Given the description of an element on the screen output the (x, y) to click on. 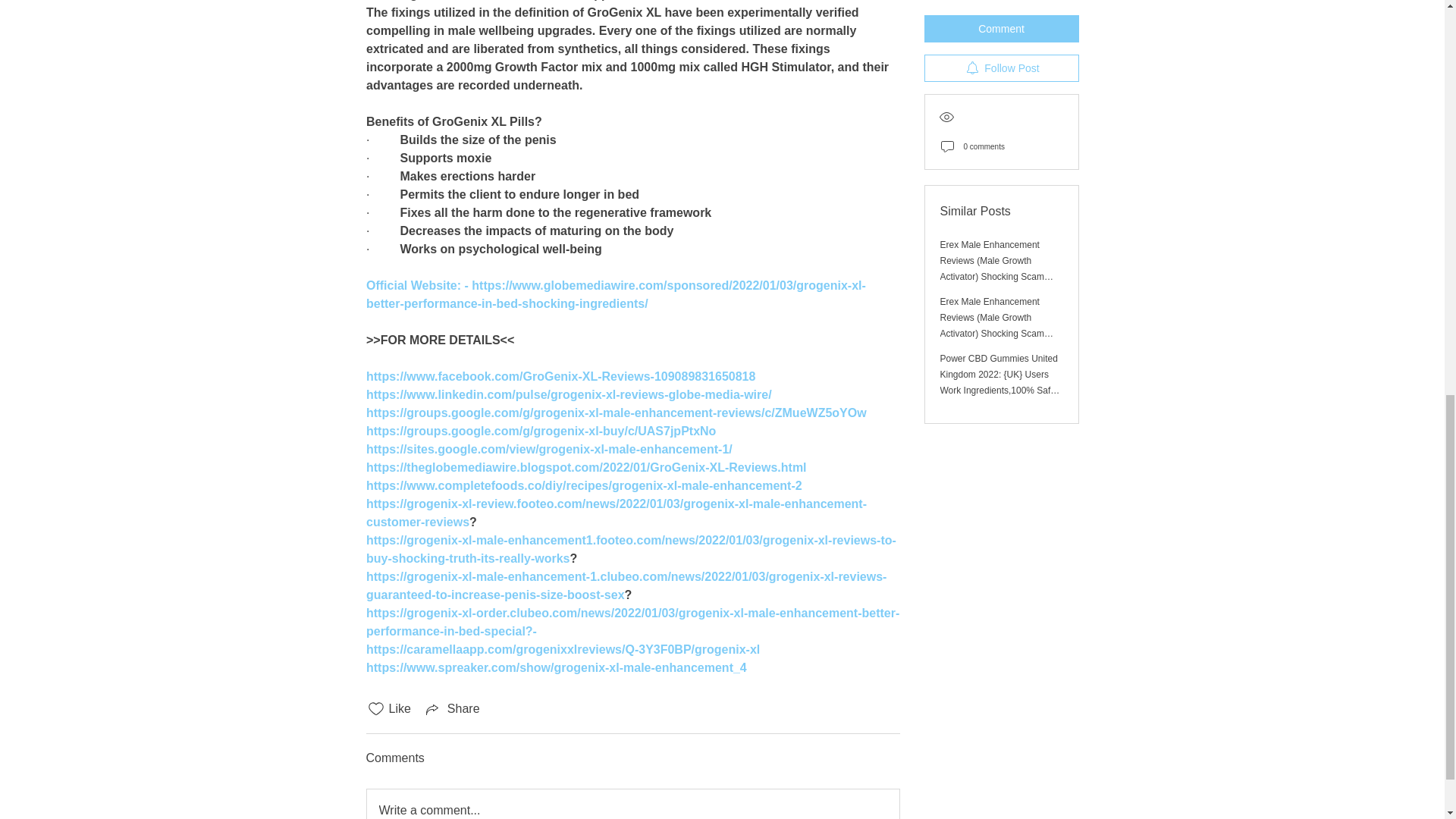
Official Website: -  (417, 285)
